Given the description of an element on the screen output the (x, y) to click on. 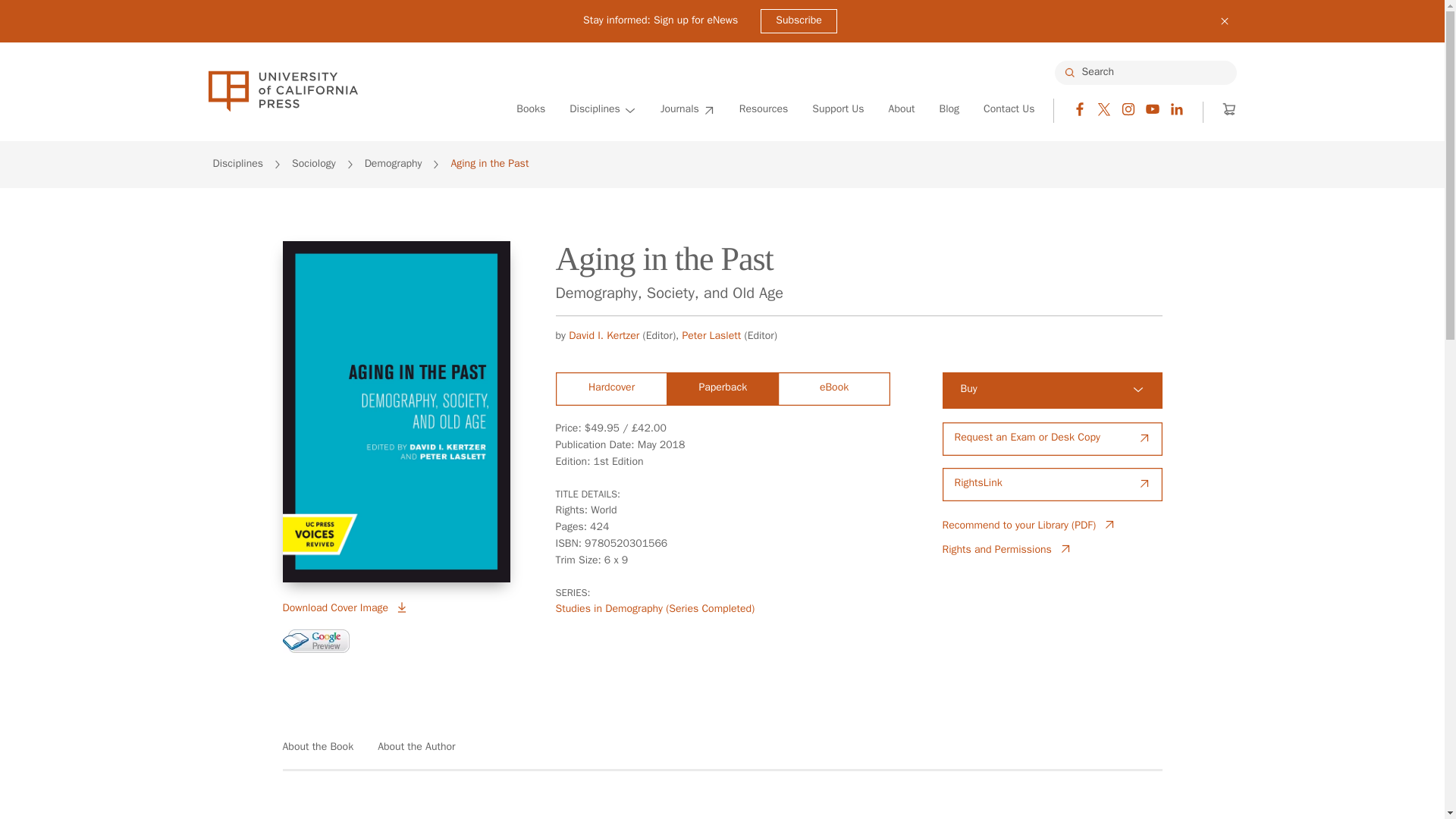
Books (530, 110)
Disciplines (602, 110)
Subscribe (798, 21)
University of California Press (282, 91)
Dismiss (1223, 21)
